Given the description of an element on the screen output the (x, y) to click on. 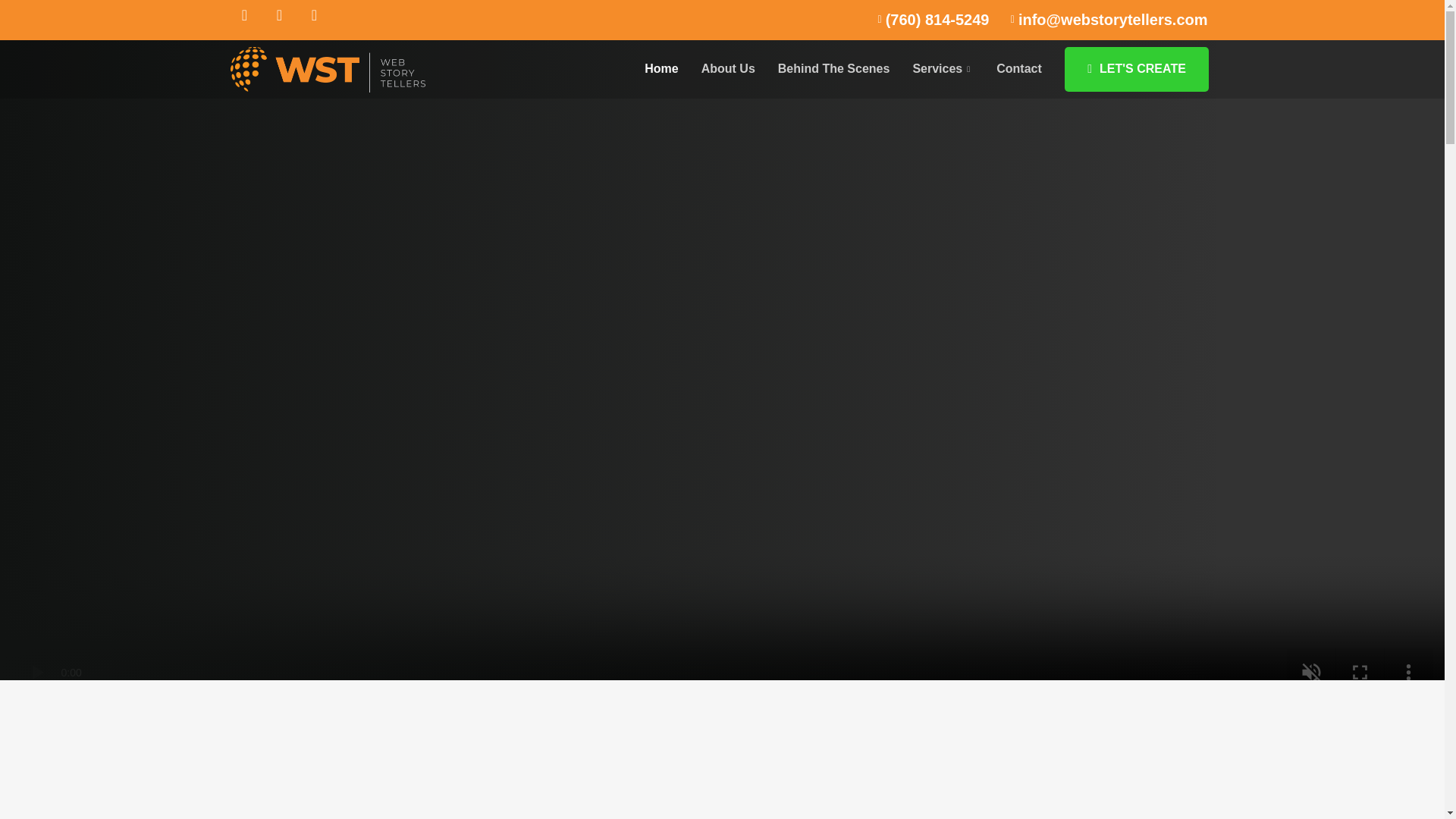
Home (660, 68)
LET'S CREATE (1136, 68)
About Us (728, 68)
Contact (1018, 68)
Services (943, 68)
Behind The Scenes (834, 68)
